Given the description of an element on the screen output the (x, y) to click on. 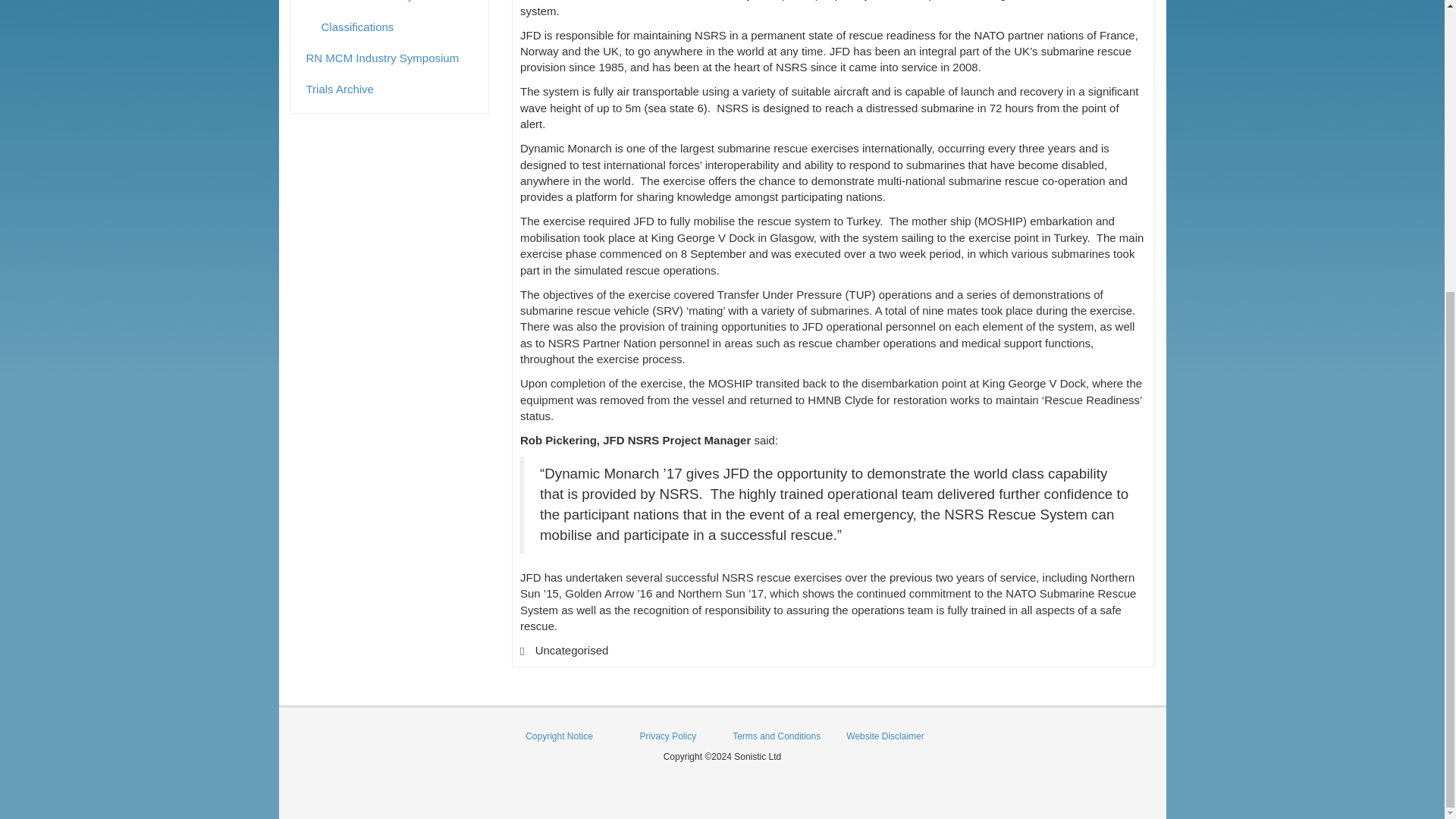
Privacy Policy (667, 736)
Contractors Directory (389, 5)
Classifications (397, 26)
Copyright Notice (558, 736)
Website Disclaimer (884, 736)
RN MCM Industry Symposium (389, 57)
Terms and Conditions (776, 736)
Trials Archive (389, 88)
